Given the description of an element on the screen output the (x, y) to click on. 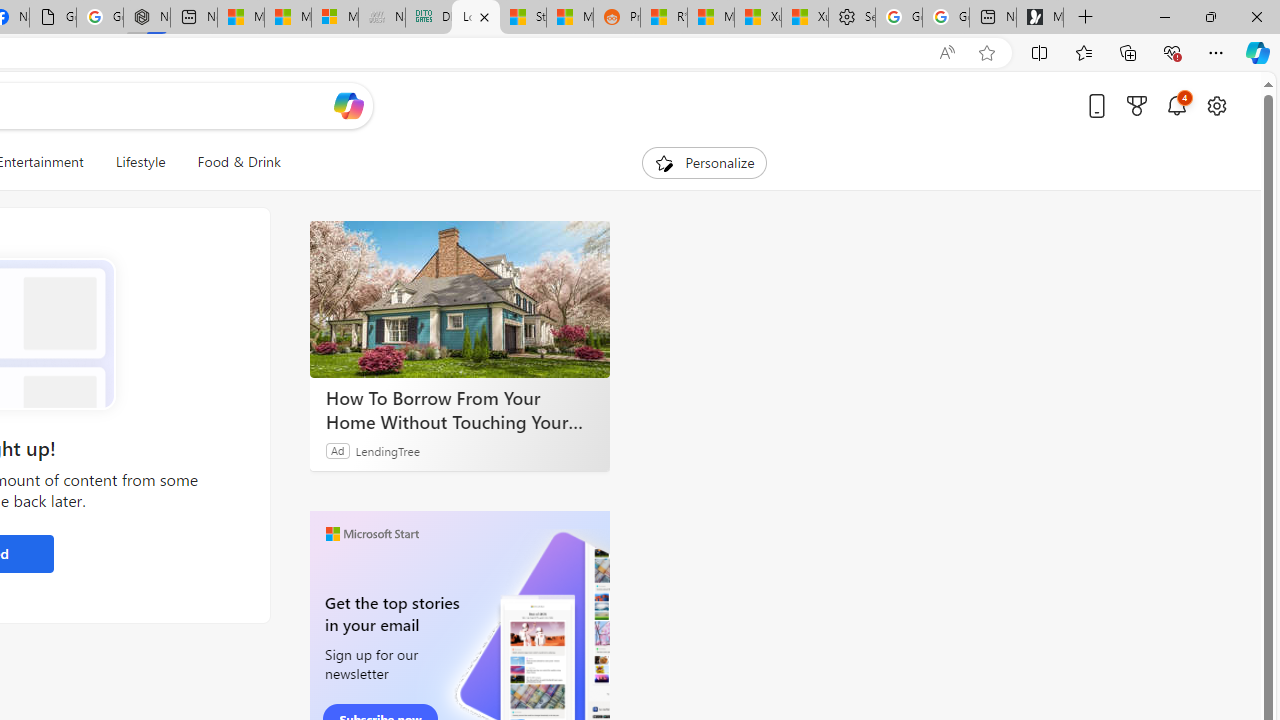
R******* | Trusted Community Engagement and Contributions (664, 17)
